Given the description of an element on the screen output the (x, y) to click on. 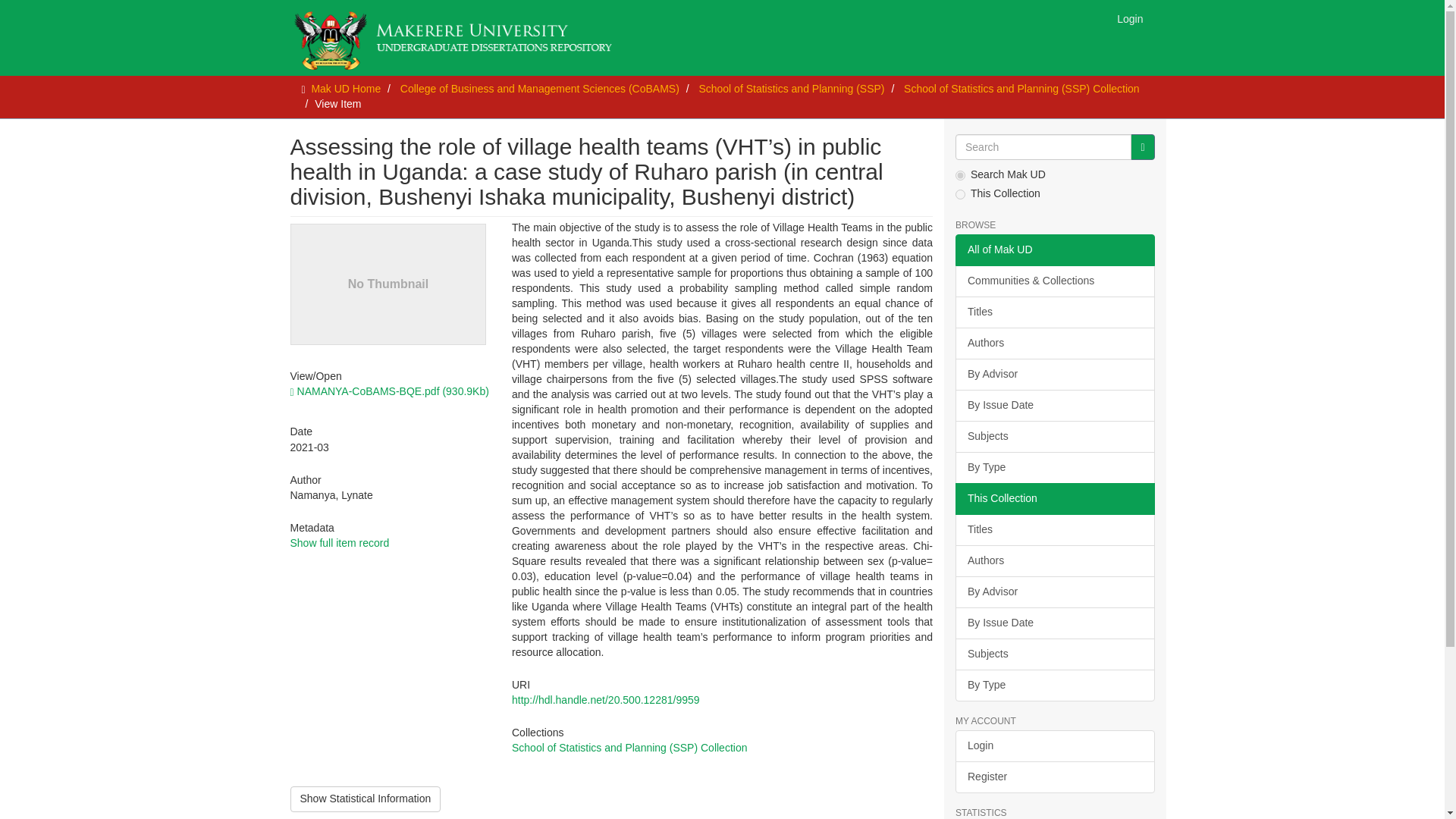
All of Mak UD (1054, 250)
By Type (1054, 468)
Show Statistical Information (365, 799)
Titles (1054, 312)
By Advisor (1054, 374)
By Issue Date (1054, 405)
Show full item record (338, 542)
Go (1142, 146)
Authors (1054, 561)
Mak UD Home (345, 88)
Titles (1054, 530)
Subjects (1054, 436)
By Advisor (1054, 592)
This Collection (1054, 499)
Authors (1054, 343)
